Given the description of an element on the screen output the (x, y) to click on. 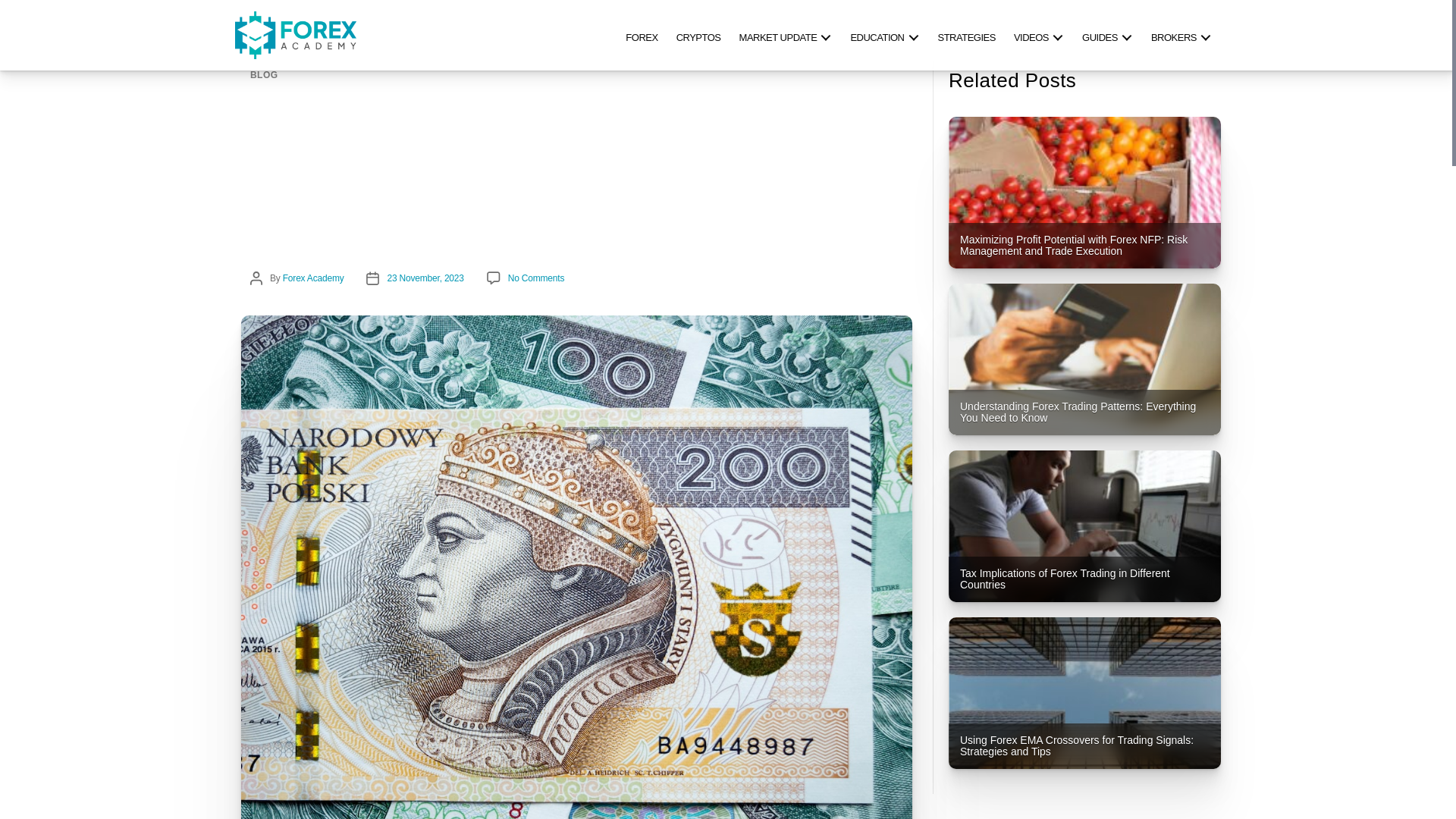
Tax Implications of Forex Trading in Different Countries (1085, 525)
EDUCATION (884, 35)
CRYPTOS (698, 35)
MARKET UPDATE (785, 35)
STRATEGIES (966, 35)
VIDEOS (1038, 35)
BROKERS (1181, 35)
GUIDES (1107, 35)
